Given the description of an element on the screen output the (x, y) to click on. 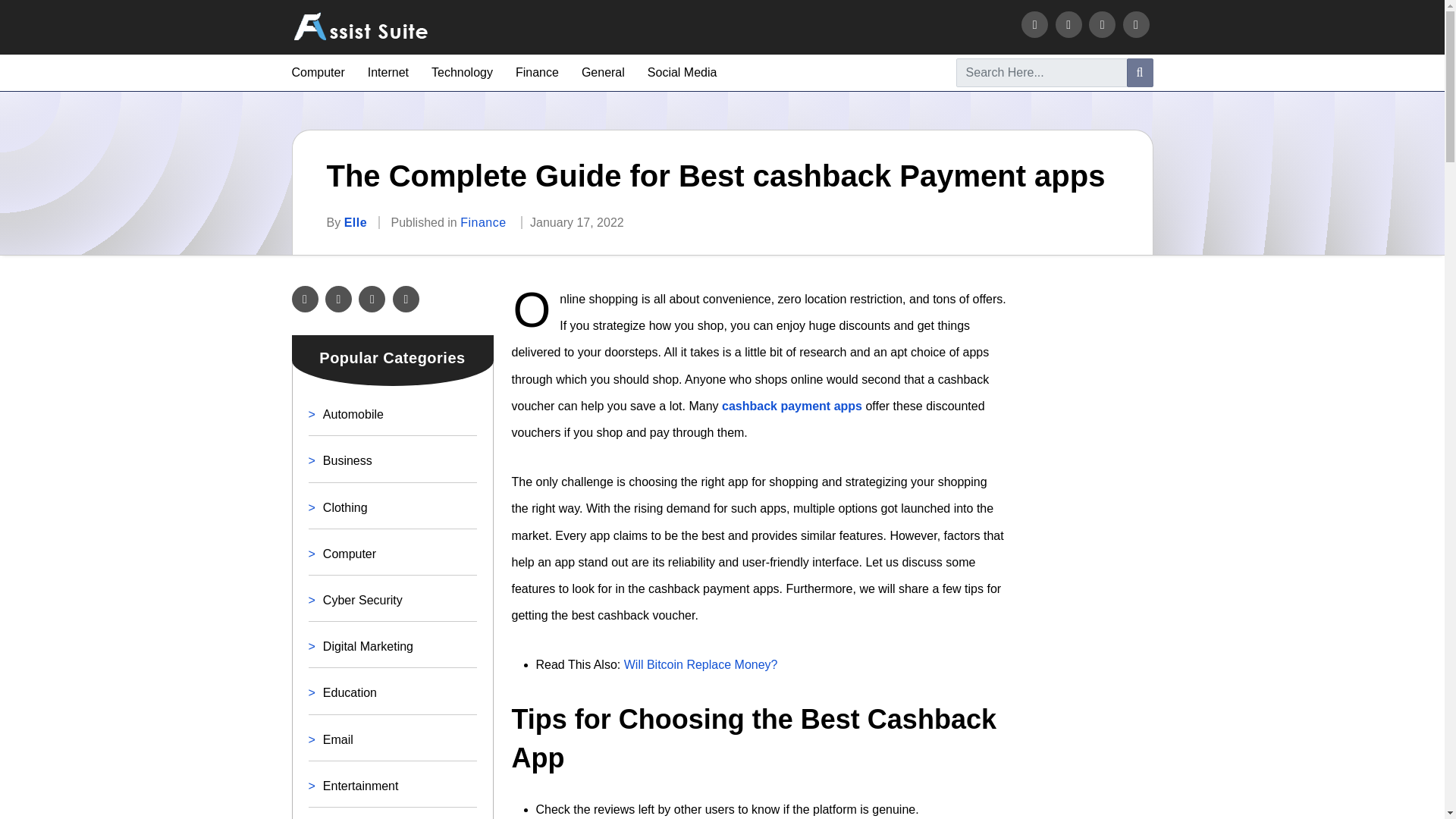
Social Media (682, 72)
Education (350, 692)
Clothing (345, 507)
General (602, 72)
Finance (482, 222)
Computer (349, 553)
Digital Marketing (368, 645)
Automobile (353, 413)
Elle (354, 222)
Internet (388, 72)
Business (347, 460)
Email (338, 738)
Computer (317, 72)
Finance (537, 72)
Technology (461, 72)
